Given the description of an element on the screen output the (x, y) to click on. 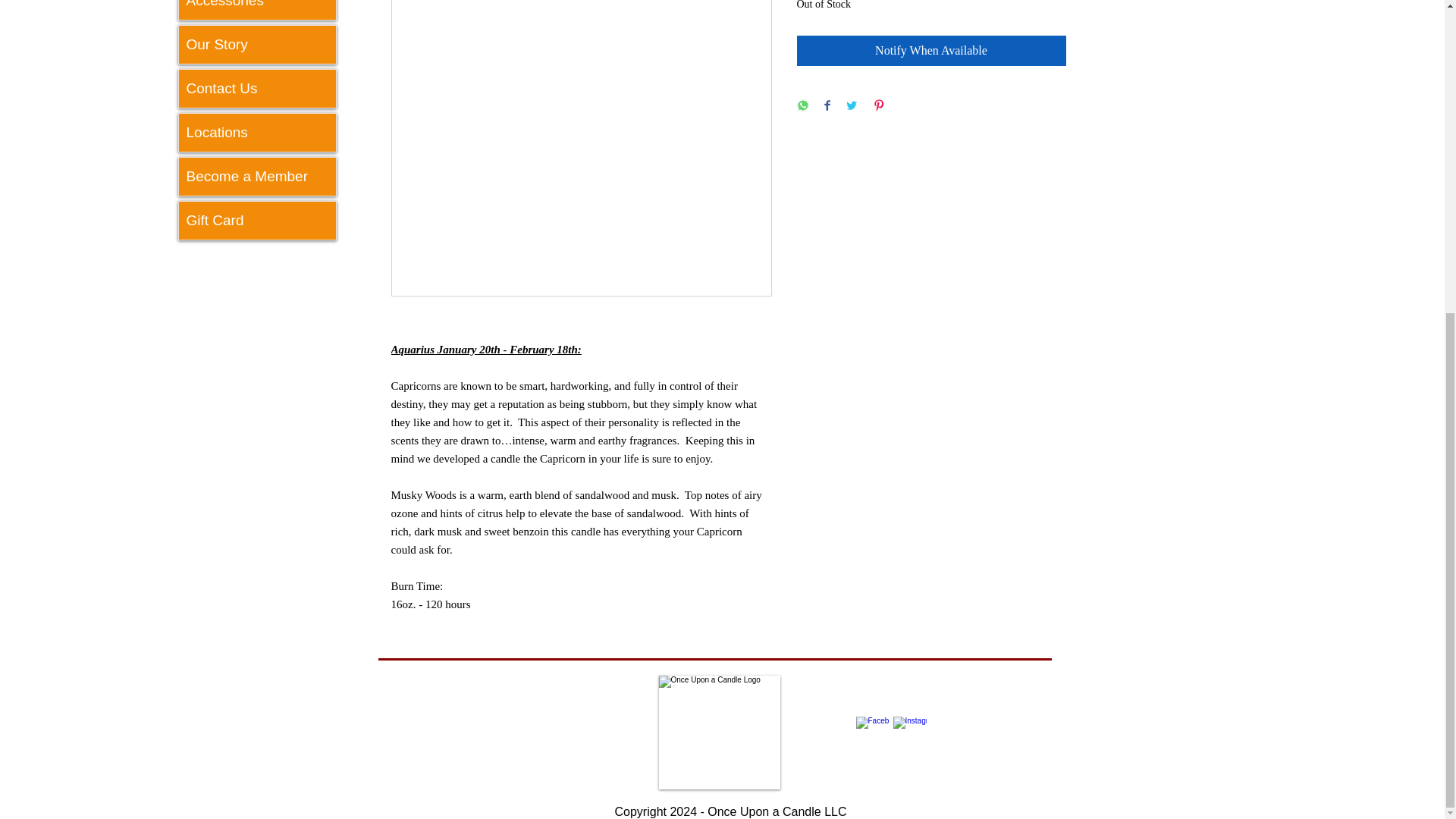
Become a Member (257, 176)
Accessories (257, 9)
Notify When Available (930, 51)
Locations (257, 132)
Gift Card (257, 220)
Our Story (257, 44)
Contact Us (257, 88)
